Given the description of an element on the screen output the (x, y) to click on. 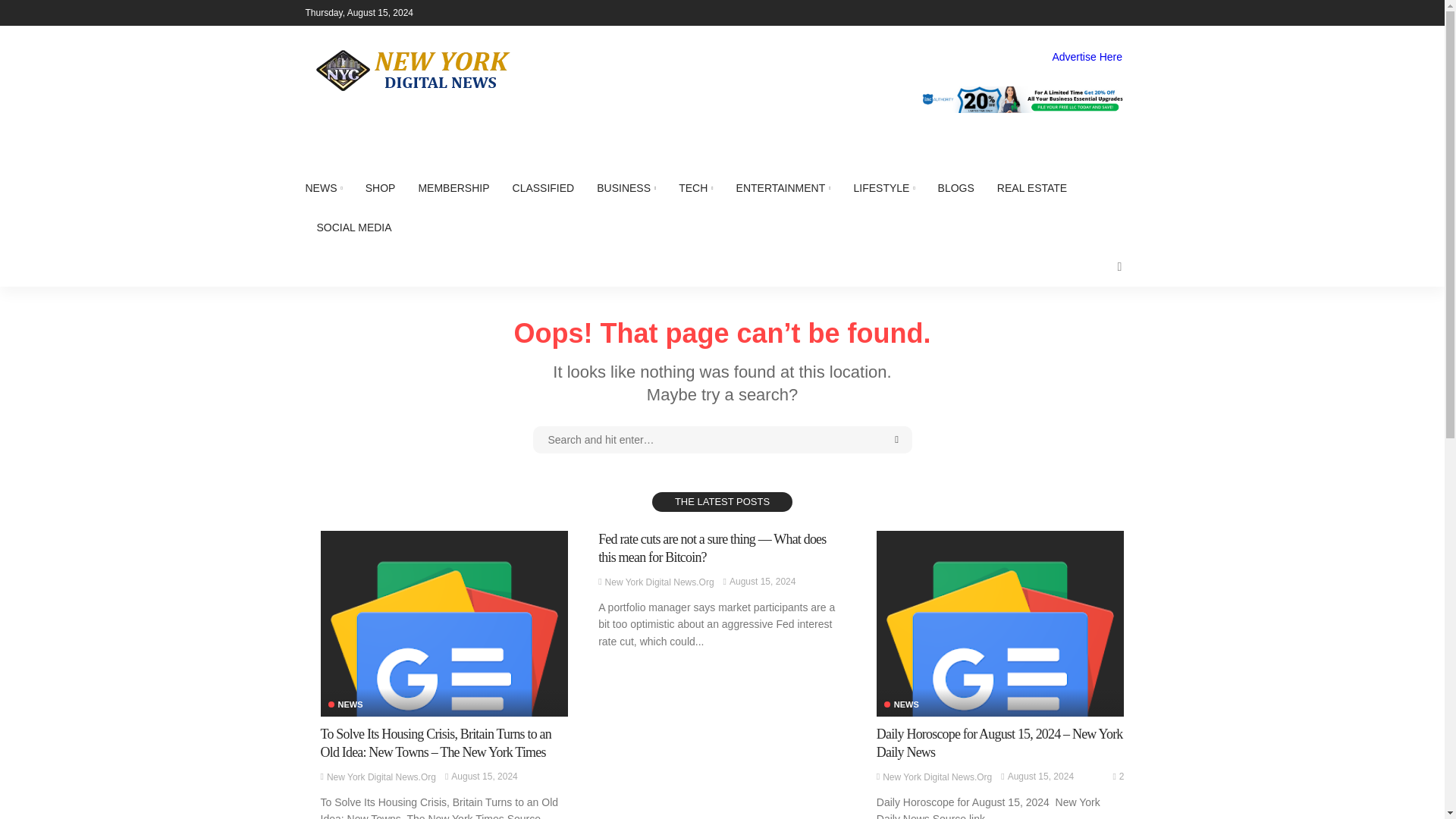
search (1118, 266)
search for: (721, 439)
News (900, 705)
News (344, 705)
